Given the description of an element on the screen output the (x, y) to click on. 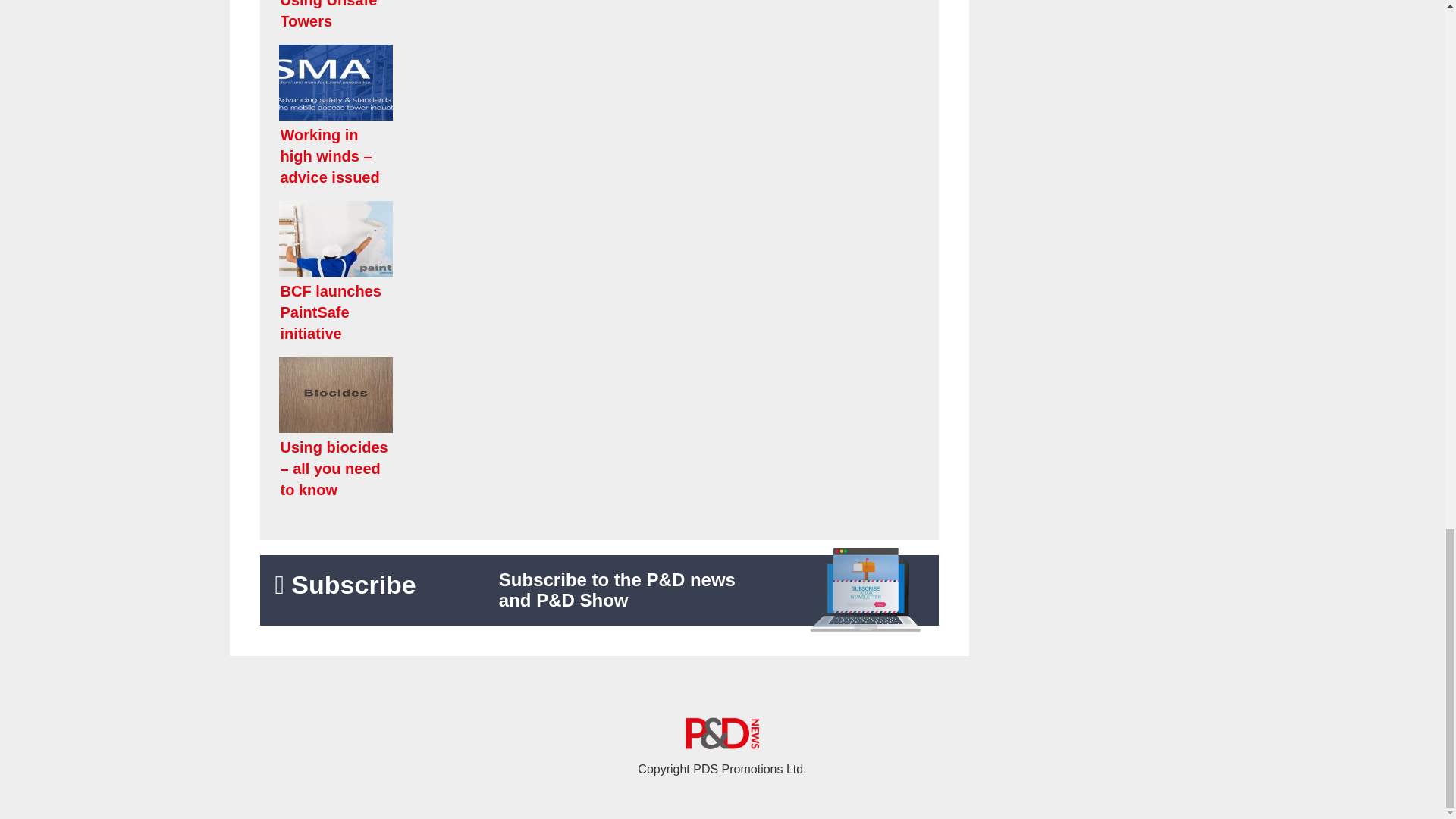
BCF launches PaintSafe initiative (599, 274)
Dangers of Using Unsafe Towers (599, 20)
